Given the description of an element on the screen output the (x, y) to click on. 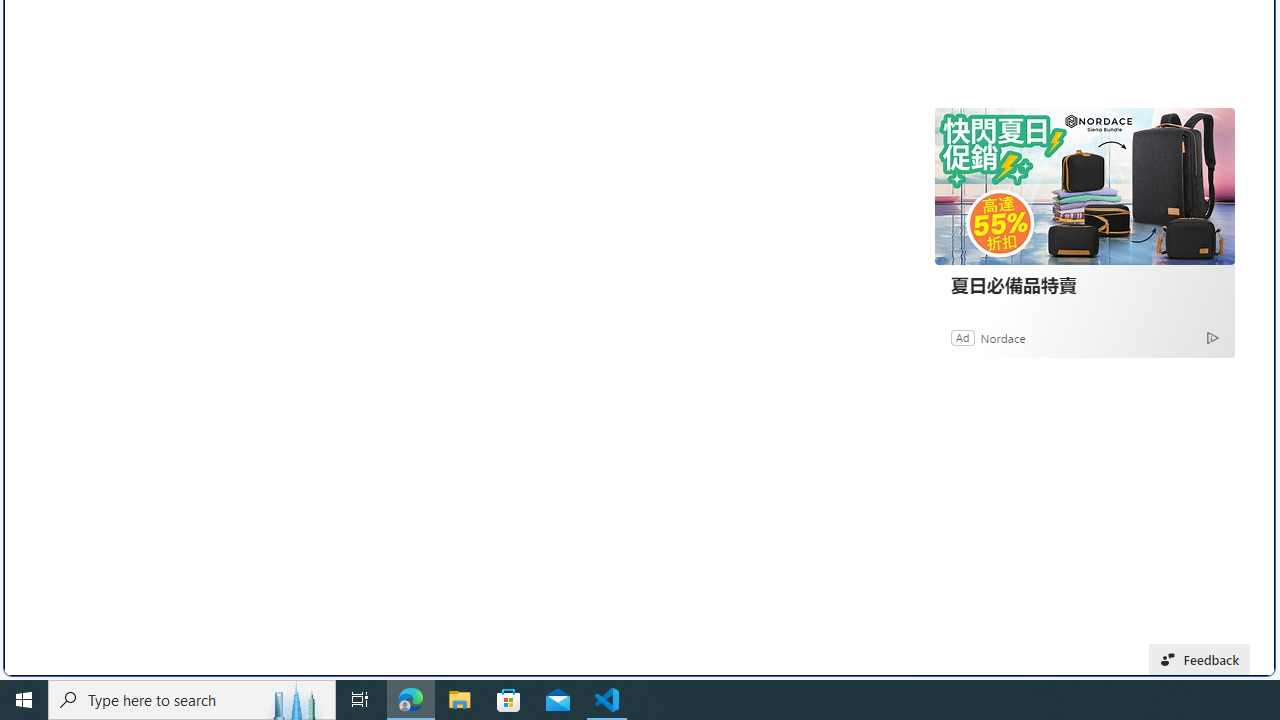
Ad (963, 337)
Nordace (1003, 337)
Ad Choice (1212, 336)
Feedback (1199, 659)
